Given the description of an element on the screen output the (x, y) to click on. 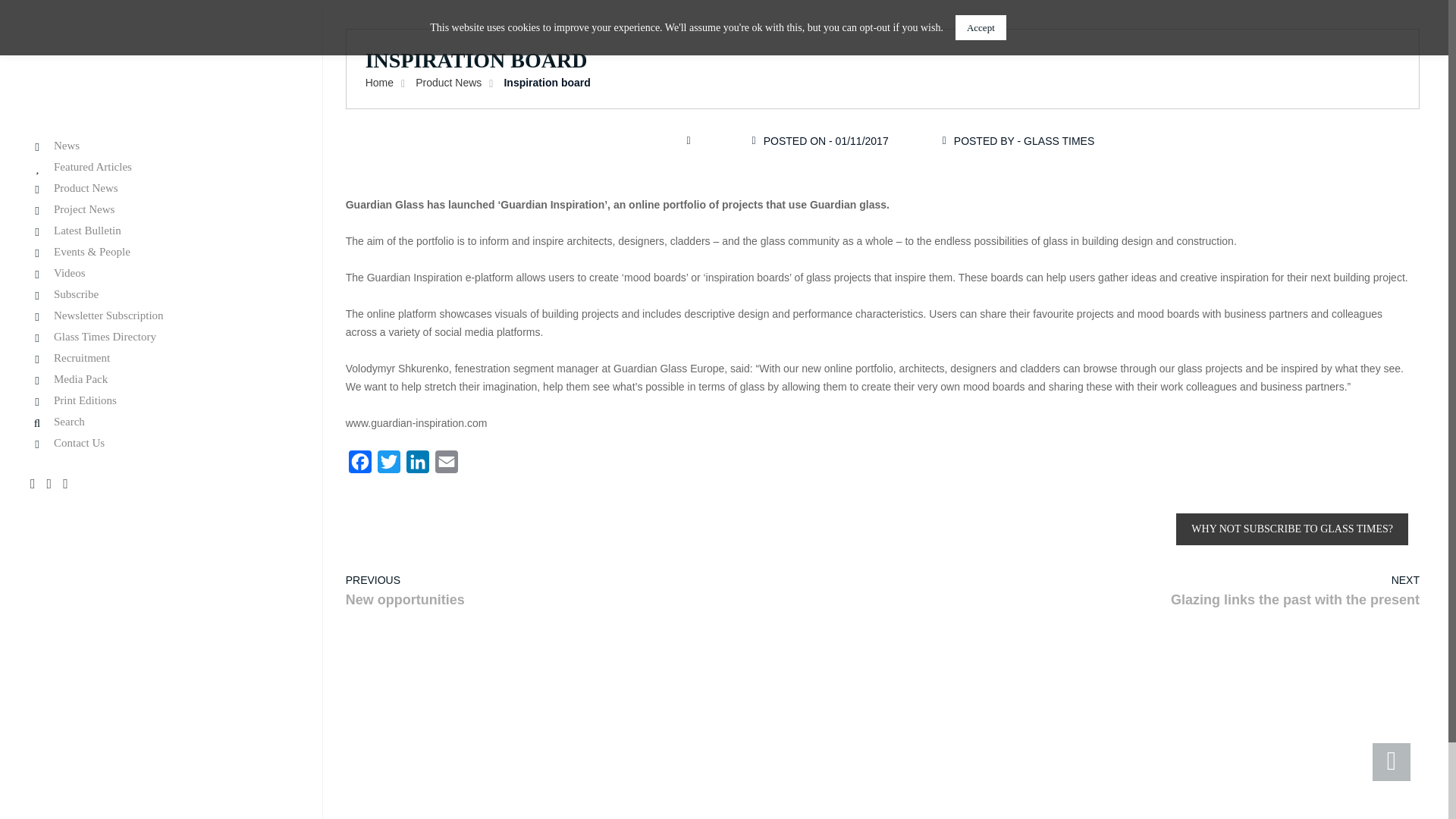
Newsletter Subscription (159, 315)
Glass Times Directory (159, 336)
News (159, 145)
Recruitment (159, 358)
Media Pack (159, 379)
Project News (159, 209)
Subscribe (159, 294)
Videos (159, 273)
Print Editions (159, 400)
Featured Articles (159, 166)
Contact Us (159, 442)
Search (159, 421)
Product News (159, 187)
Glass Times - The industrys leading trade journal (112, 73)
Latest Bulletin (159, 230)
